Given the description of an element on the screen output the (x, y) to click on. 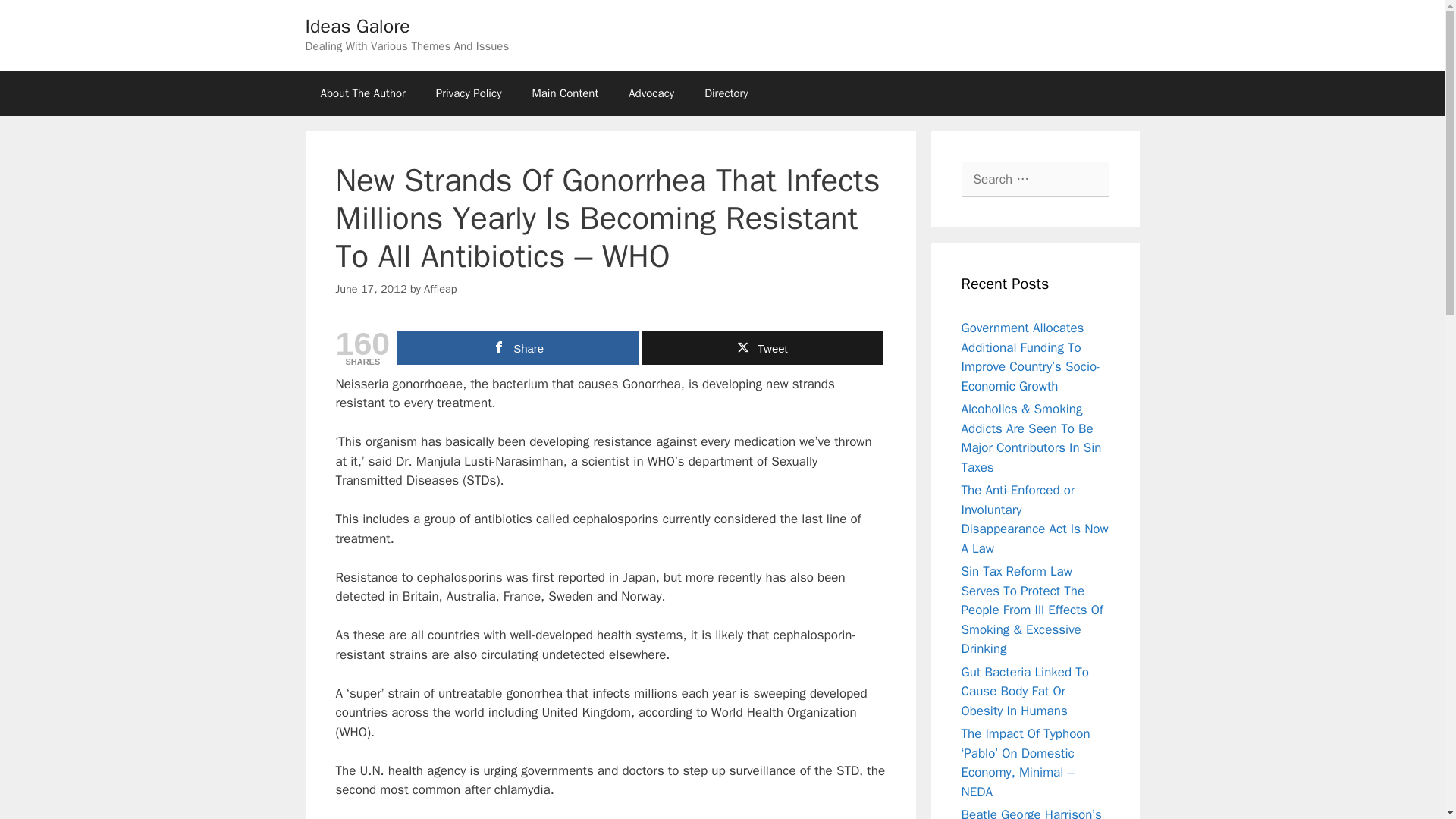
Affleap (440, 288)
Ideas Galore (356, 25)
Tweet (762, 347)
Gut Bacteria Linked To Cause Body Fat Or Obesity In Humans (1024, 691)
Advocacy (650, 92)
Share (518, 347)
Privacy Policy (468, 92)
Main Content (564, 92)
Search (35, 18)
Directory (725, 92)
About The Author (362, 92)
View all posts by Affleap (440, 288)
Search for: (1034, 178)
